Given the description of an element on the screen output the (x, y) to click on. 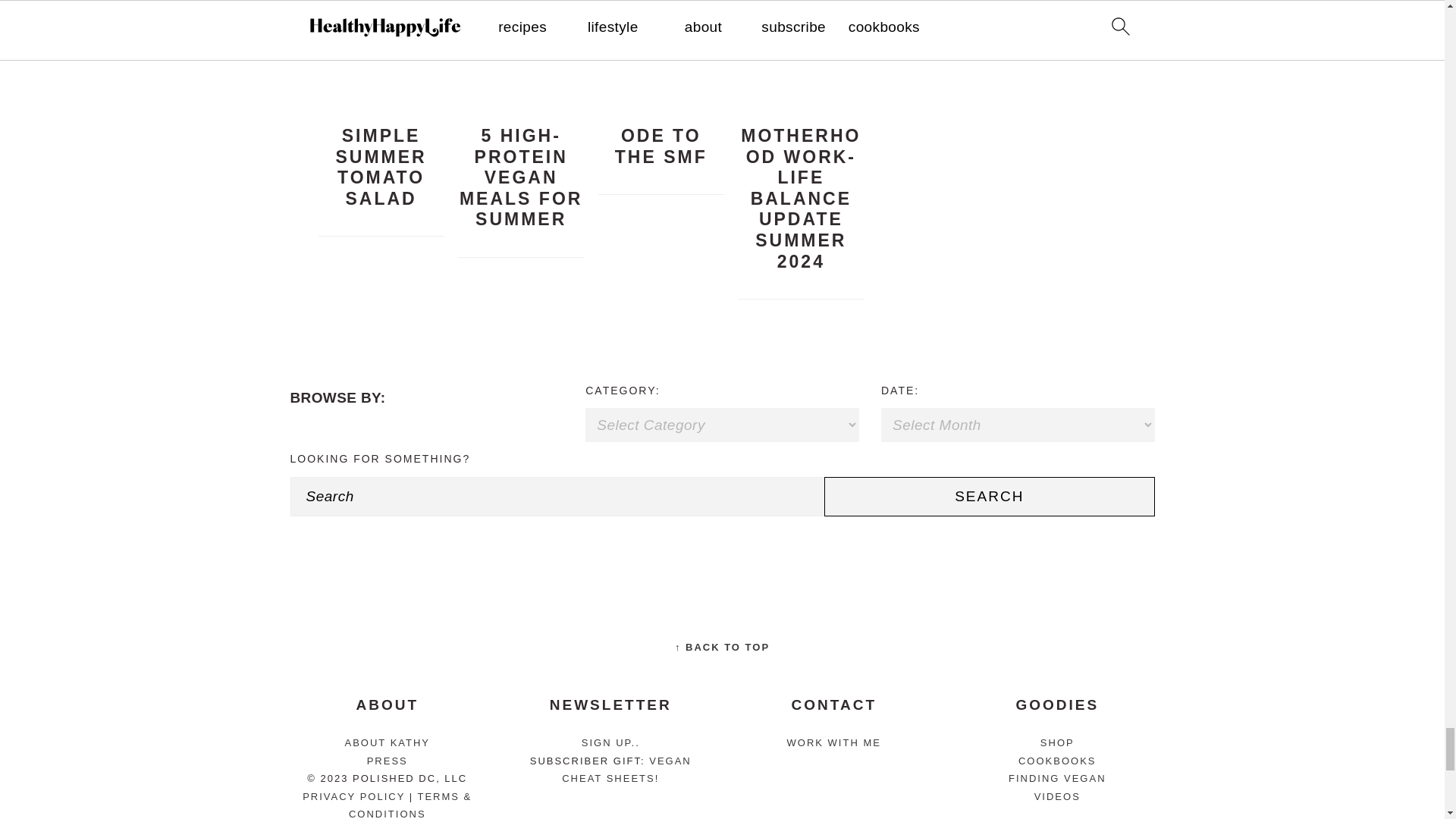
Ode to the SMF (660, 96)
Search (989, 495)
Motherhood Work-Life Balance Update Summer 2024 (800, 96)
Search (989, 495)
Simple Summer Tomato Salad (381, 96)
5 High-Protein Vegan Meals for Summer (520, 96)
